Given the description of an element on the screen output the (x, y) to click on. 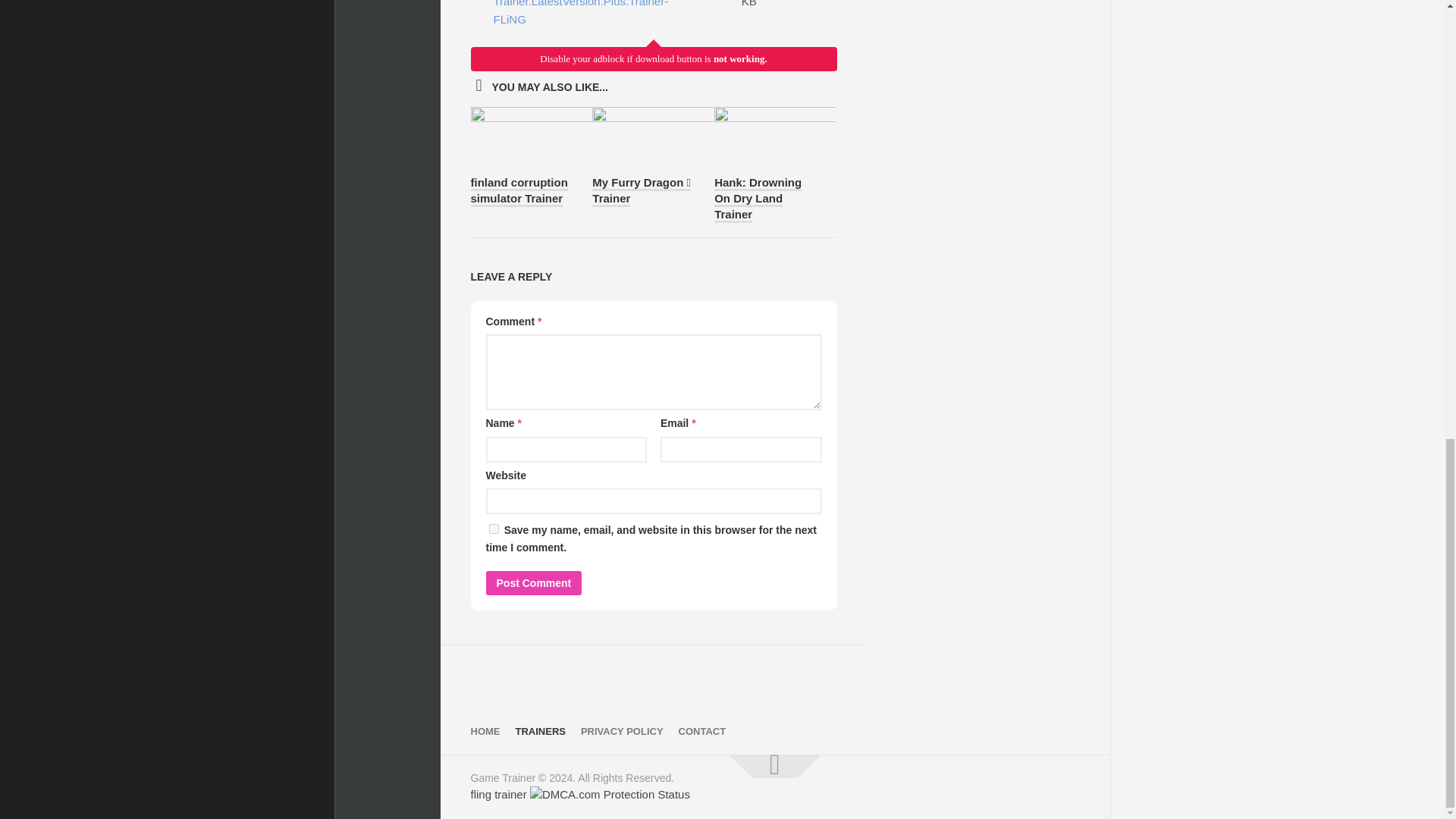
Post Comment (532, 582)
Hank: Drowning On Dry Land Trainer (758, 199)
DMCA.com Protection Status (609, 793)
yes (492, 528)
finland corruption simulator Trainer (518, 191)
fling trainer (497, 793)
Real estate tycoon Trainer.LatestVersion.Plus.Trainer-FLiNG (575, 14)
Real estate tycoon Trainer.Full.Access.Plus.12.Trainer-FLiNG (575, 14)
Post Comment (532, 582)
